Given the description of an element on the screen output the (x, y) to click on. 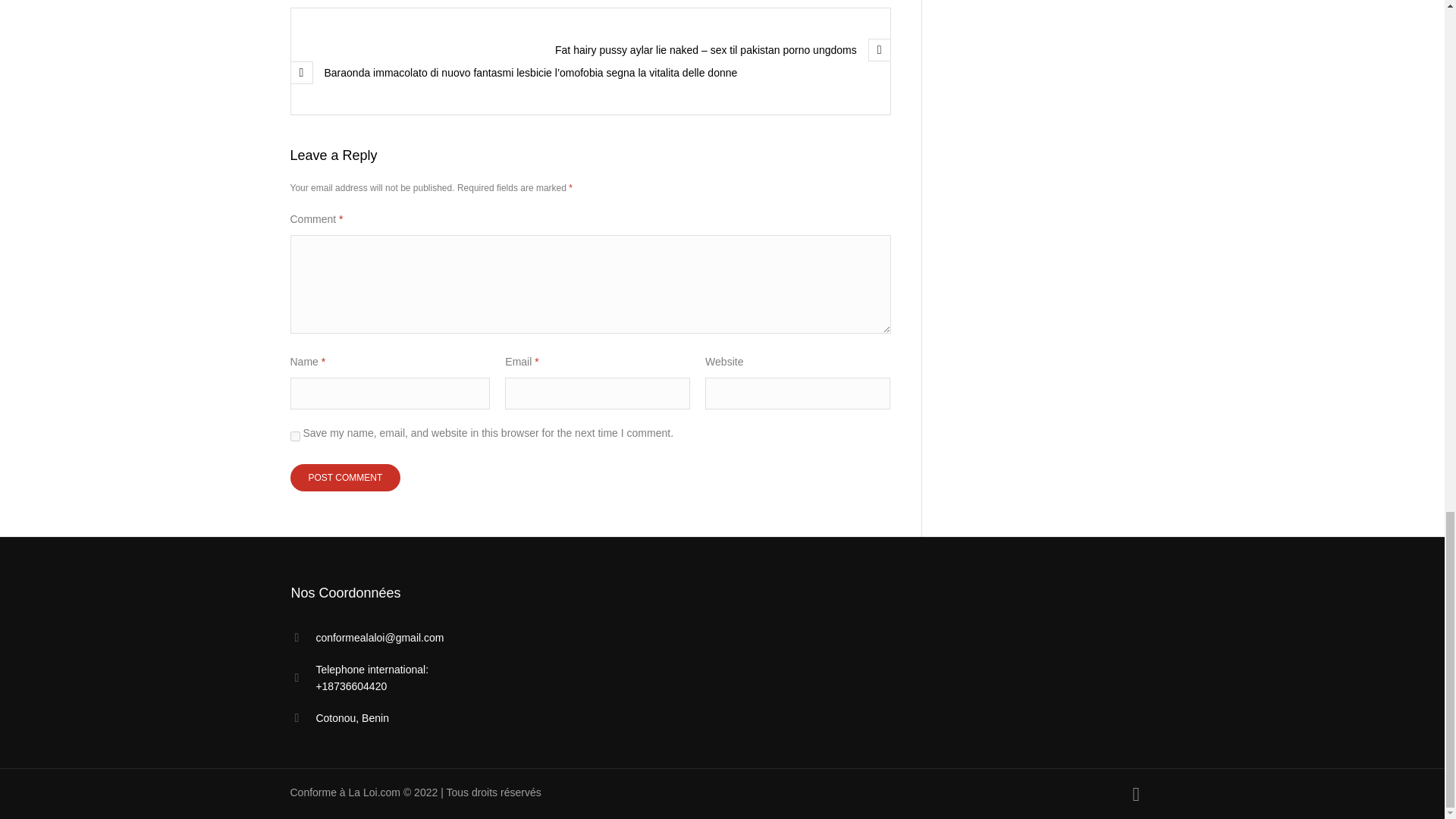
yes (294, 436)
Post Comment (344, 477)
Post Comment (344, 477)
